Given the description of an element on the screen output the (x, y) to click on. 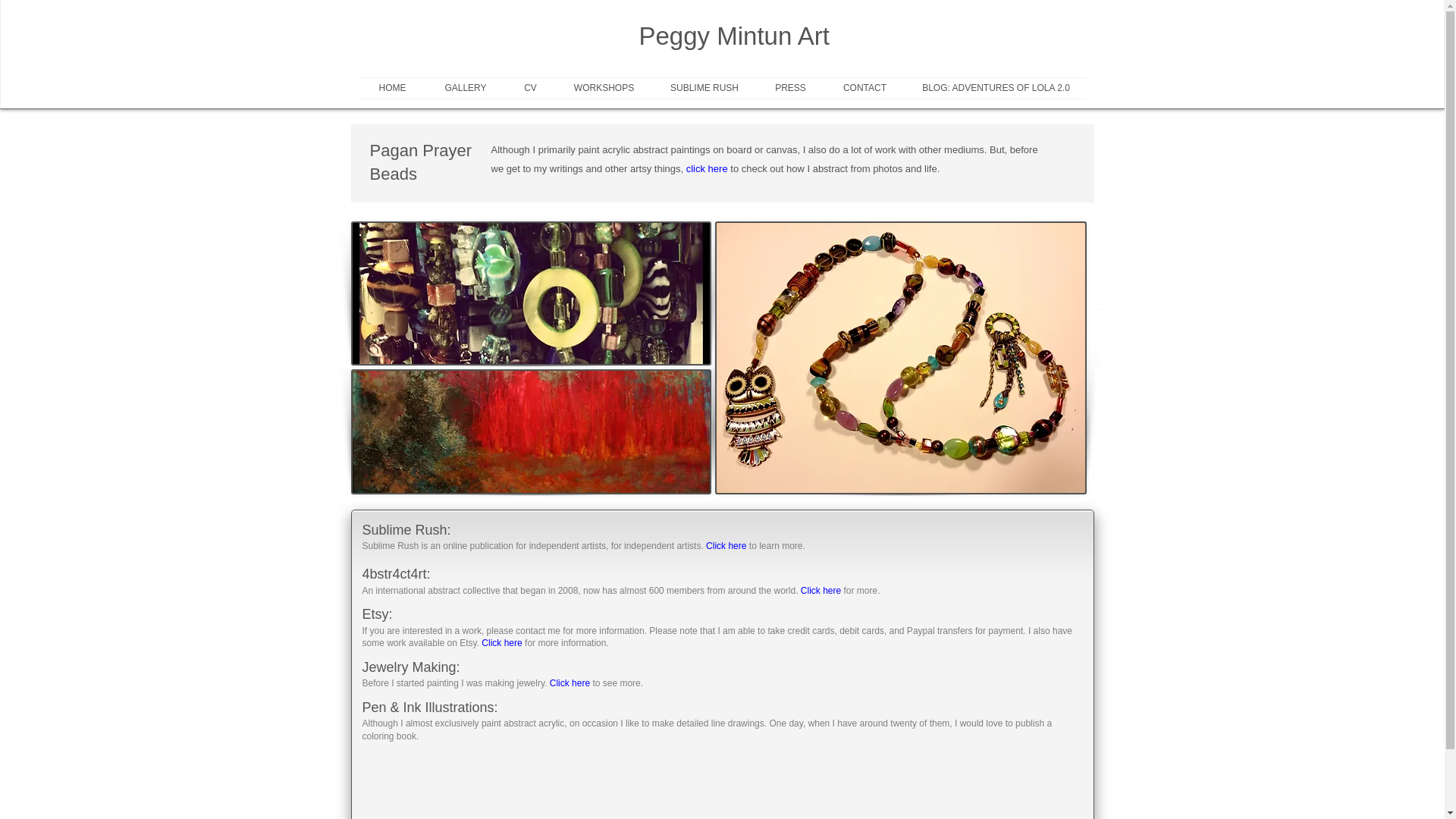
SUBLIME RUSH (704, 87)
GALLERY (464, 87)
CV (530, 87)
Click here (725, 545)
Click here (569, 683)
Click here (820, 590)
click here (706, 168)
CONTACT (864, 87)
HOME (392, 87)
PRESS (790, 87)
